Given the description of an element on the screen output the (x, y) to click on. 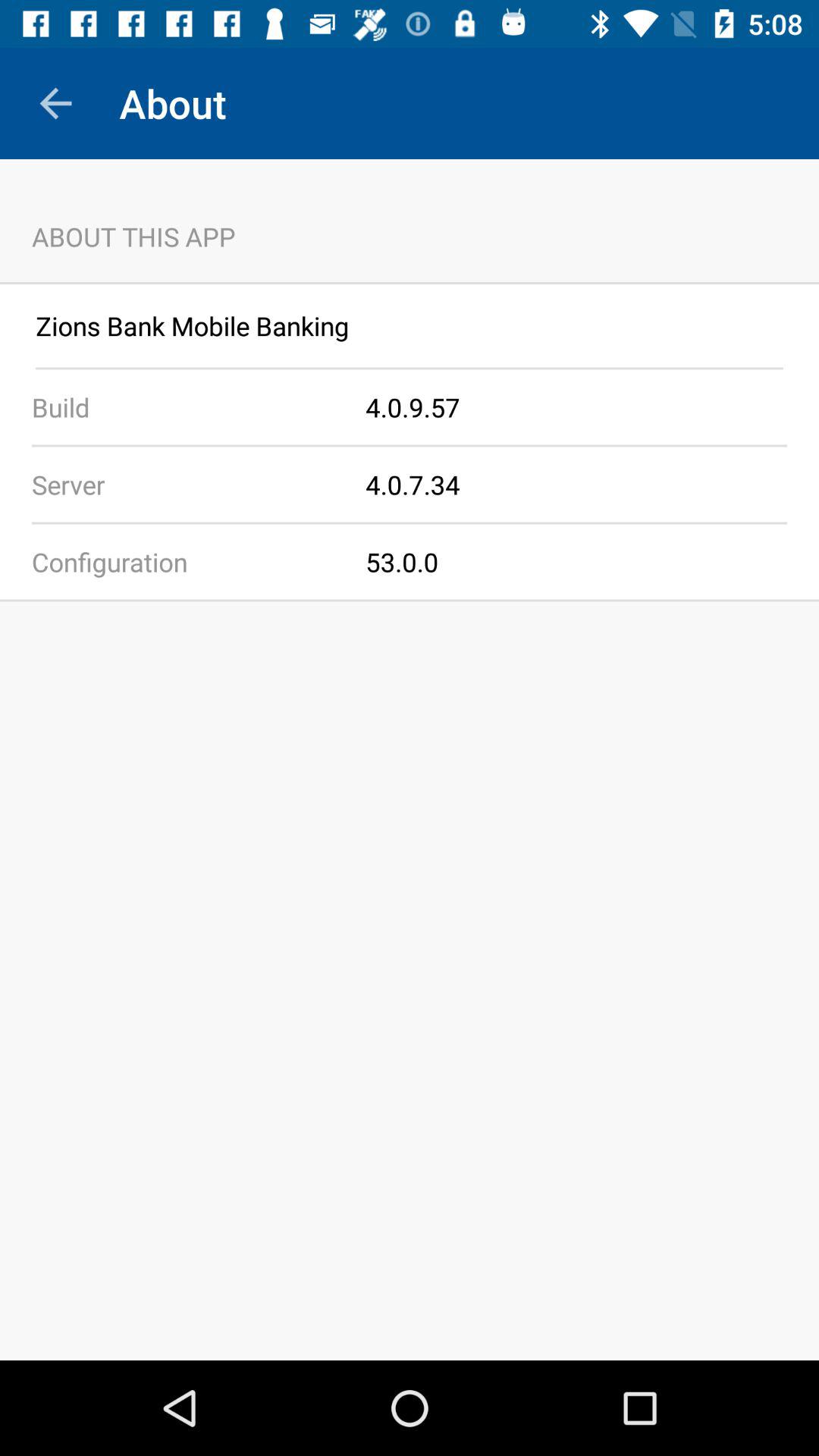
jump until the build app (182, 406)
